Given the description of an element on the screen output the (x, y) to click on. 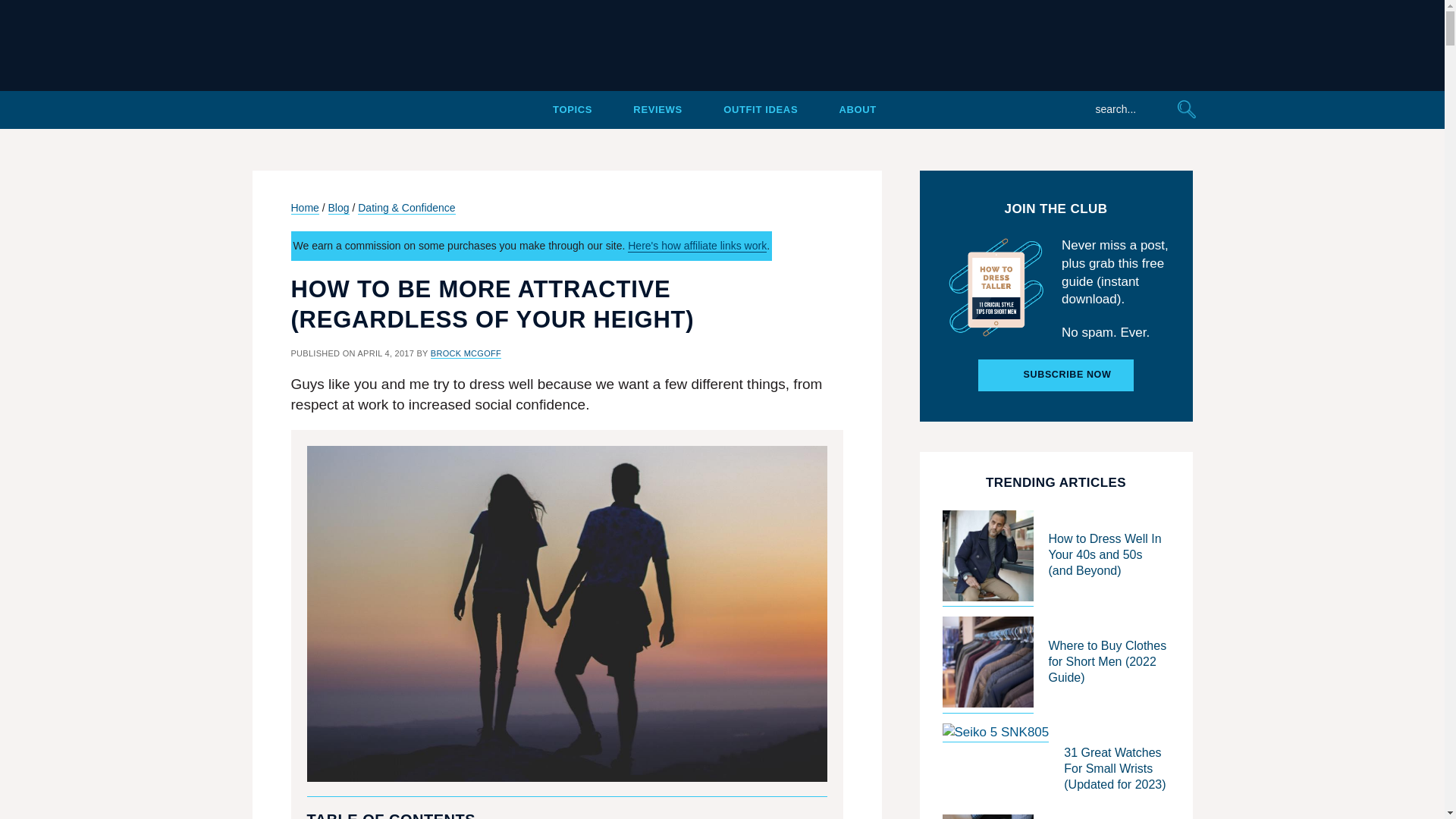
. (296, 109)
REVIEWS (657, 109)
Here's how affiliate links work (697, 245)
OUTFIT IDEAS (760, 109)
TOPICS (572, 109)
Home (296, 109)
Home (304, 207)
ABOUT (857, 109)
Blog (339, 207)
BROCK MCGOFF (465, 353)
The Modest Man (722, 45)
